Given the description of an element on the screen output the (x, y) to click on. 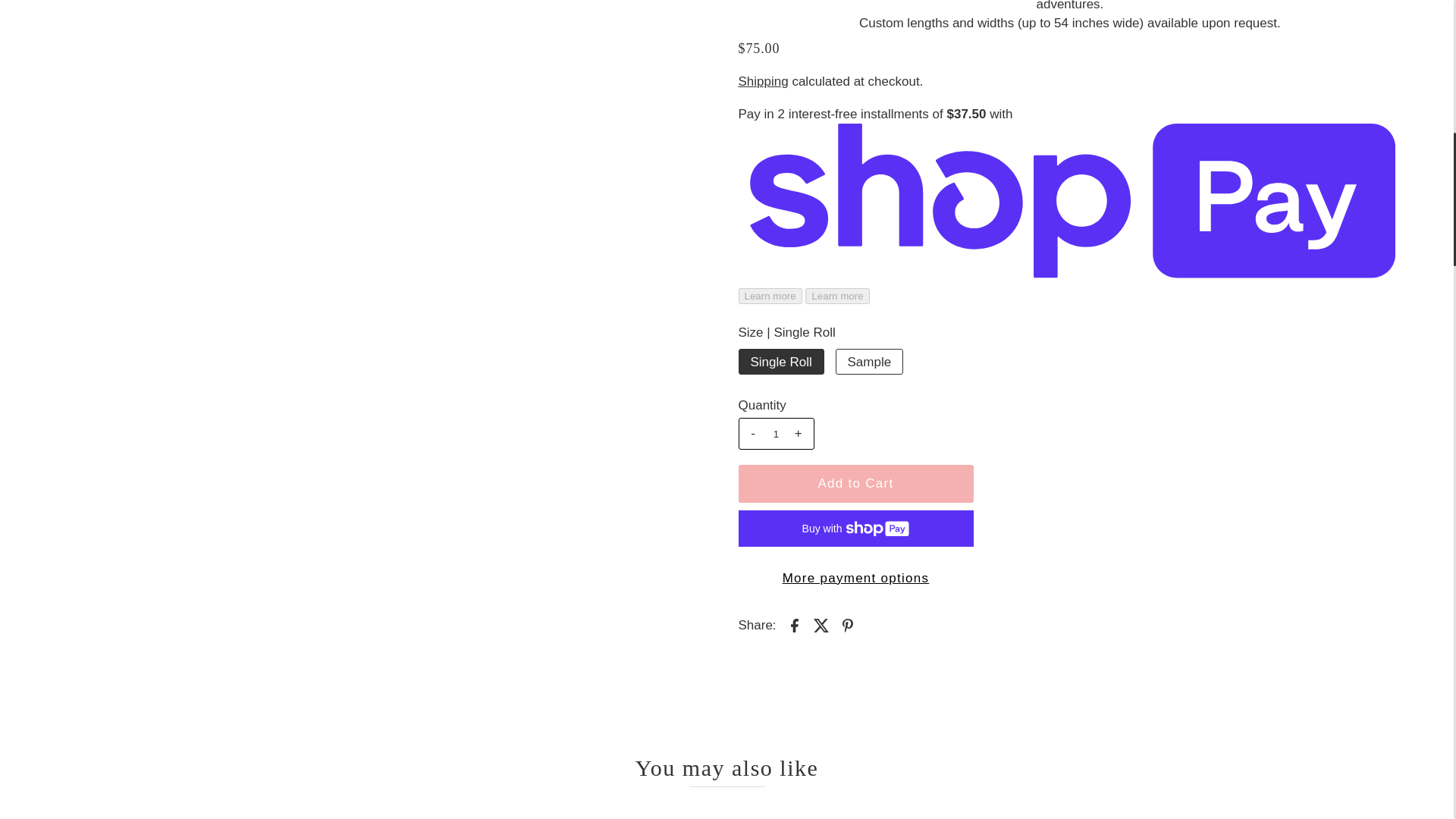
1 (775, 434)
Add to Cart (856, 483)
